Given the description of an element on the screen output the (x, y) to click on. 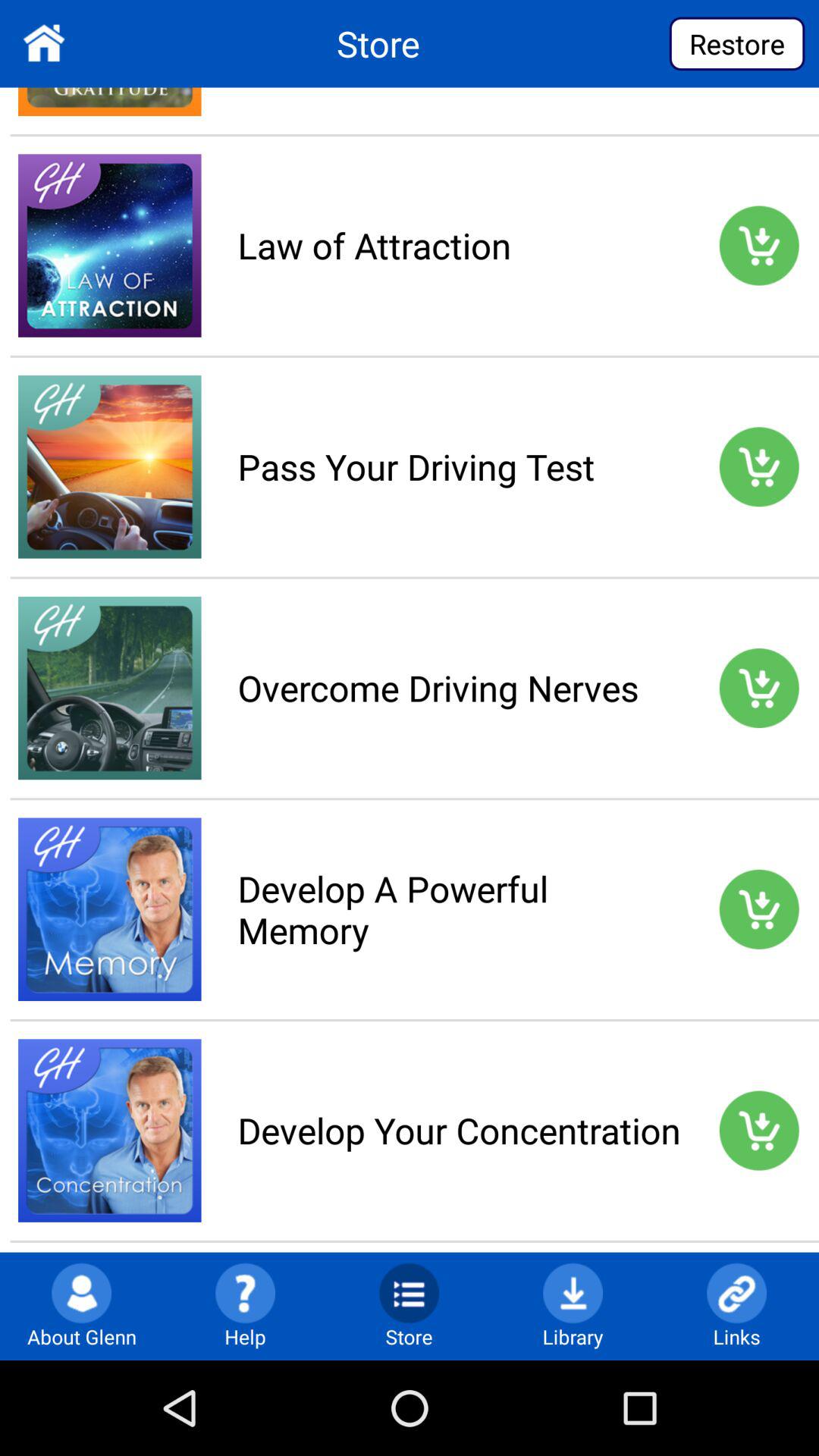
flip until the pass your driving (459, 466)
